Given the description of an element on the screen output the (x, y) to click on. 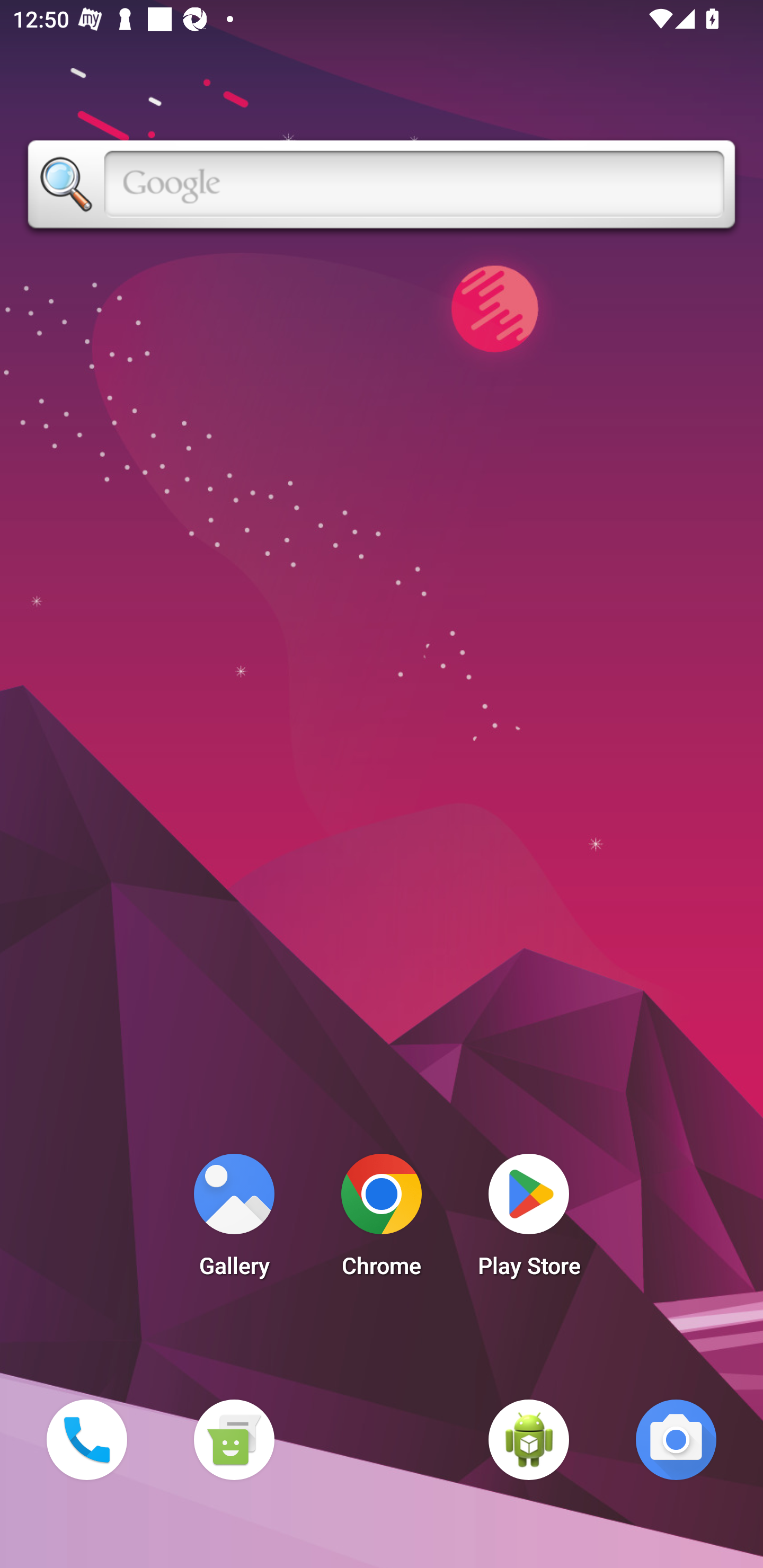
Gallery (233, 1220)
Chrome (381, 1220)
Play Store (528, 1220)
Phone (86, 1439)
Messaging (233, 1439)
WebView Browser Tester (528, 1439)
Camera (676, 1439)
